Given the description of an element on the screen output the (x, y) to click on. 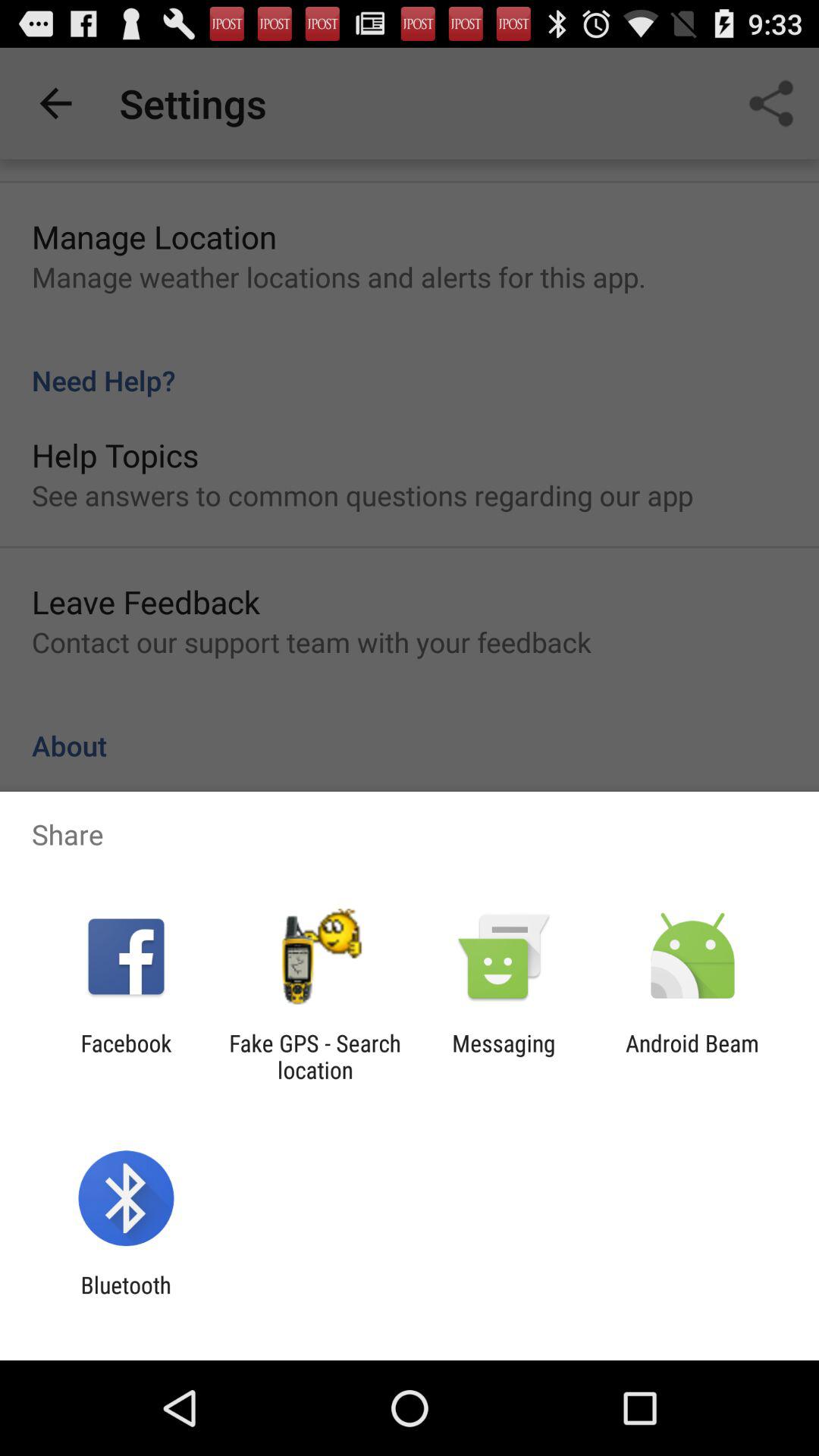
flip until android beam item (692, 1056)
